Given the description of an element on the screen output the (x, y) to click on. 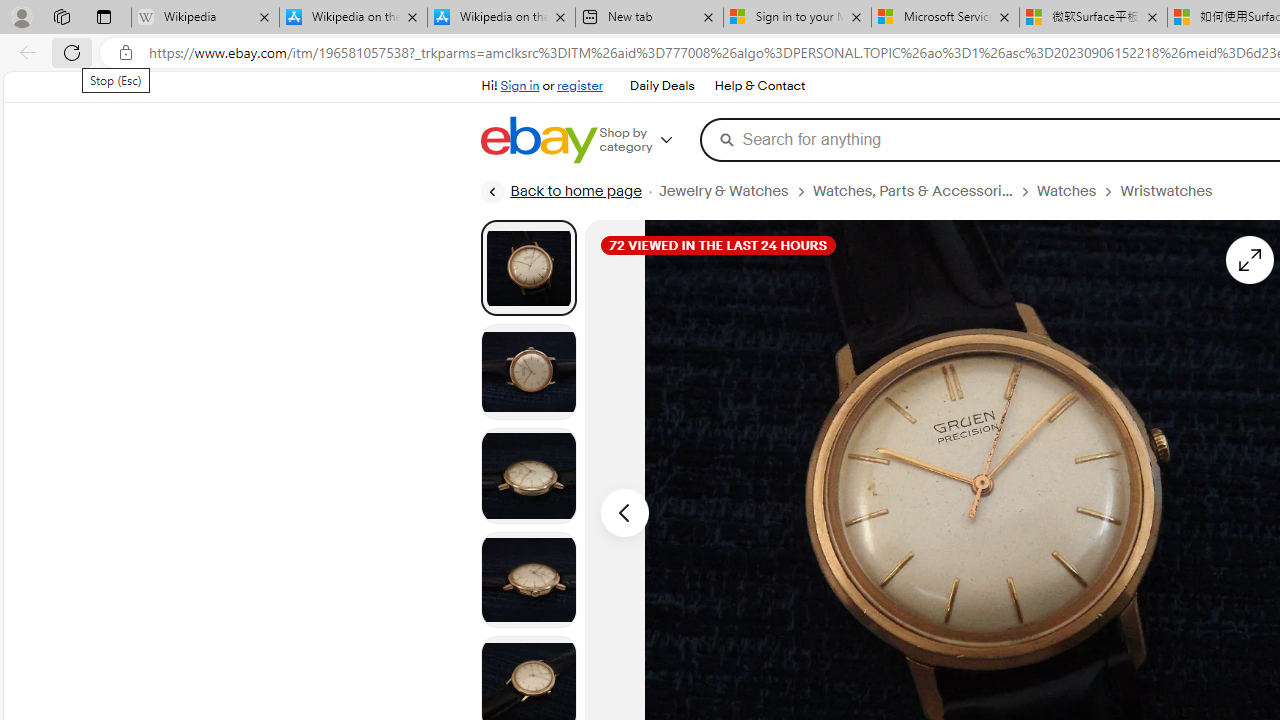
Watches (1078, 191)
Jewelry & Watches (722, 191)
Previous image - Item images thumbnails (624, 512)
Sign in (520, 85)
Watches, Parts & Accessories (911, 191)
Wikipedia - Sleeping (205, 17)
Sign in to your Microsoft account (797, 17)
